Given the description of an element on the screen output the (x, y) to click on. 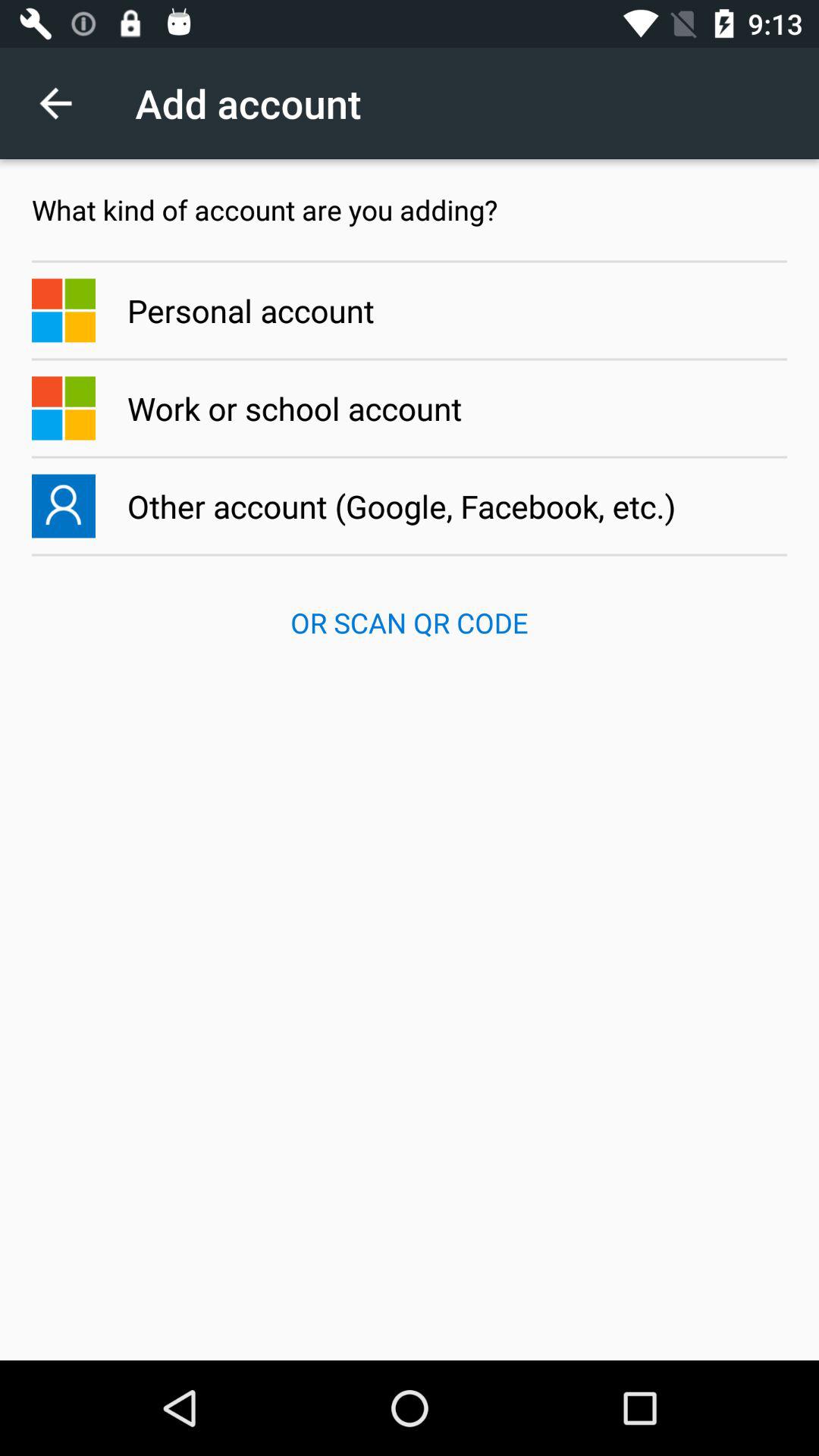
turn off the item above the what kind of app (63, 103)
